Given the description of an element on the screen output the (x, y) to click on. 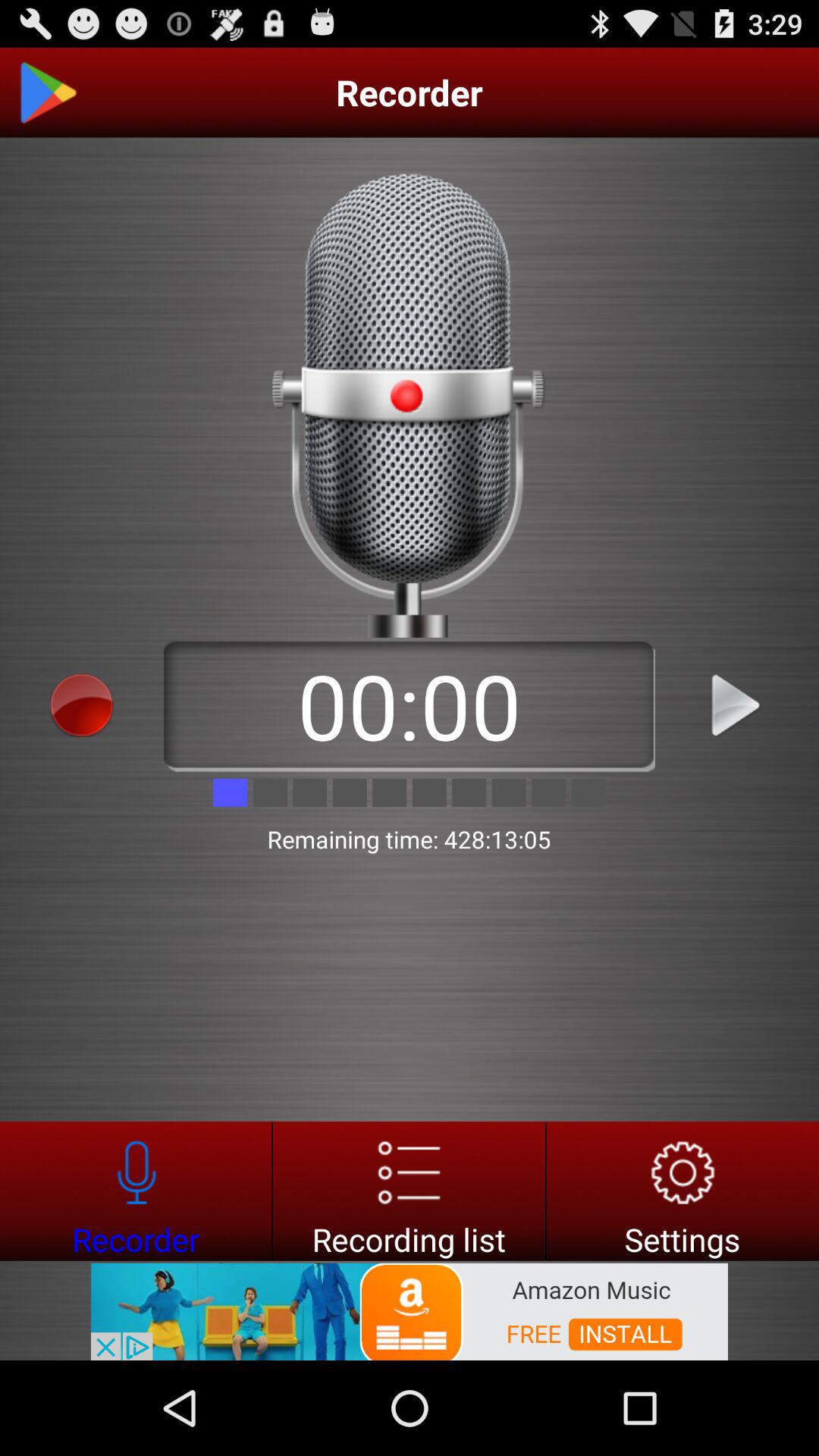
click to start/stop recording option (81, 705)
